Given the description of an element on the screen output the (x, y) to click on. 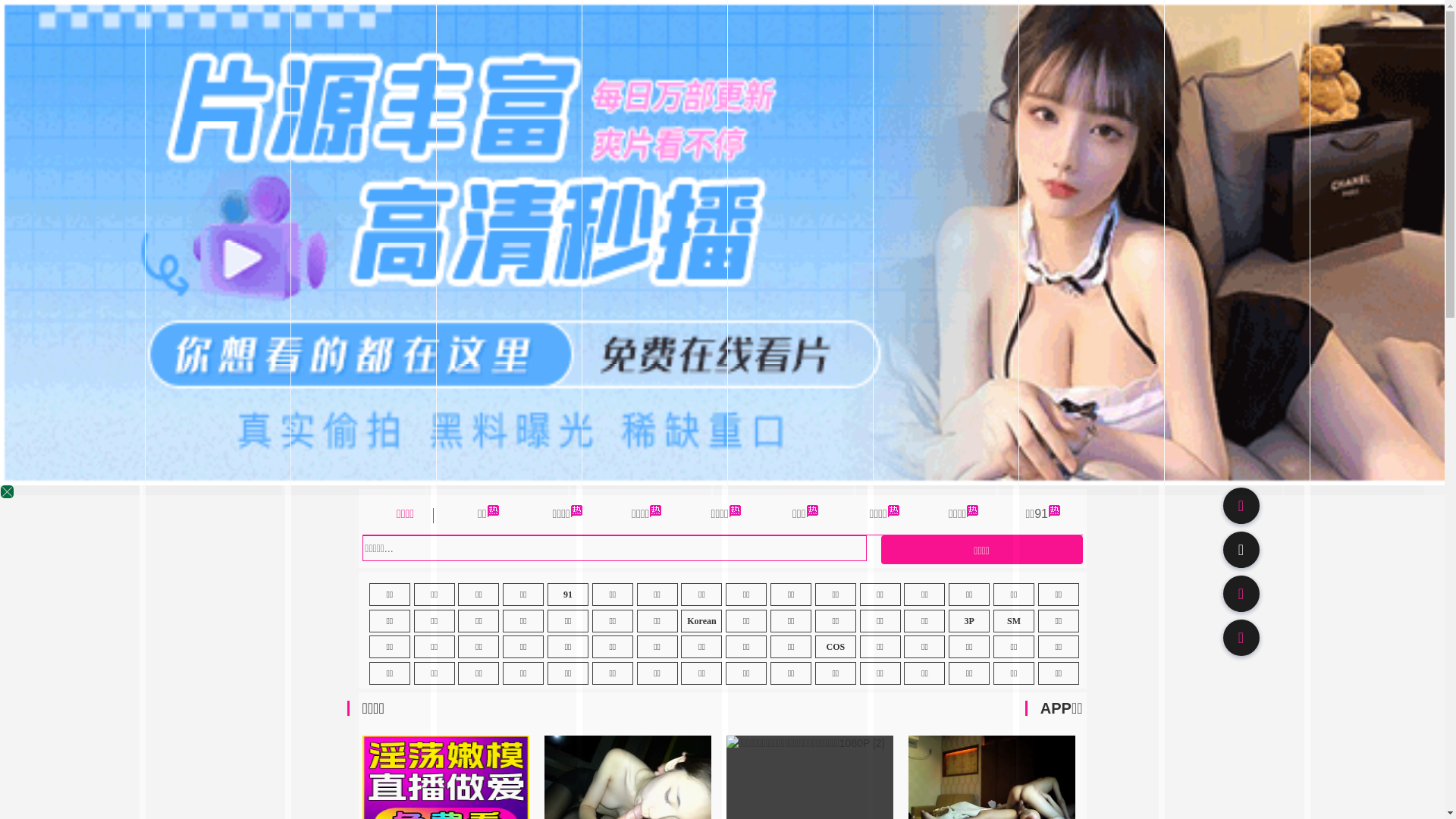
91TV Element type: hover (1240, 593)
COS Element type: text (835, 646)
Korean Element type: text (700, 620)
91 Element type: text (567, 594)
3P Element type: text (968, 620)
SM Element type: text (1013, 620)
